Given the description of an element on the screen output the (x, y) to click on. 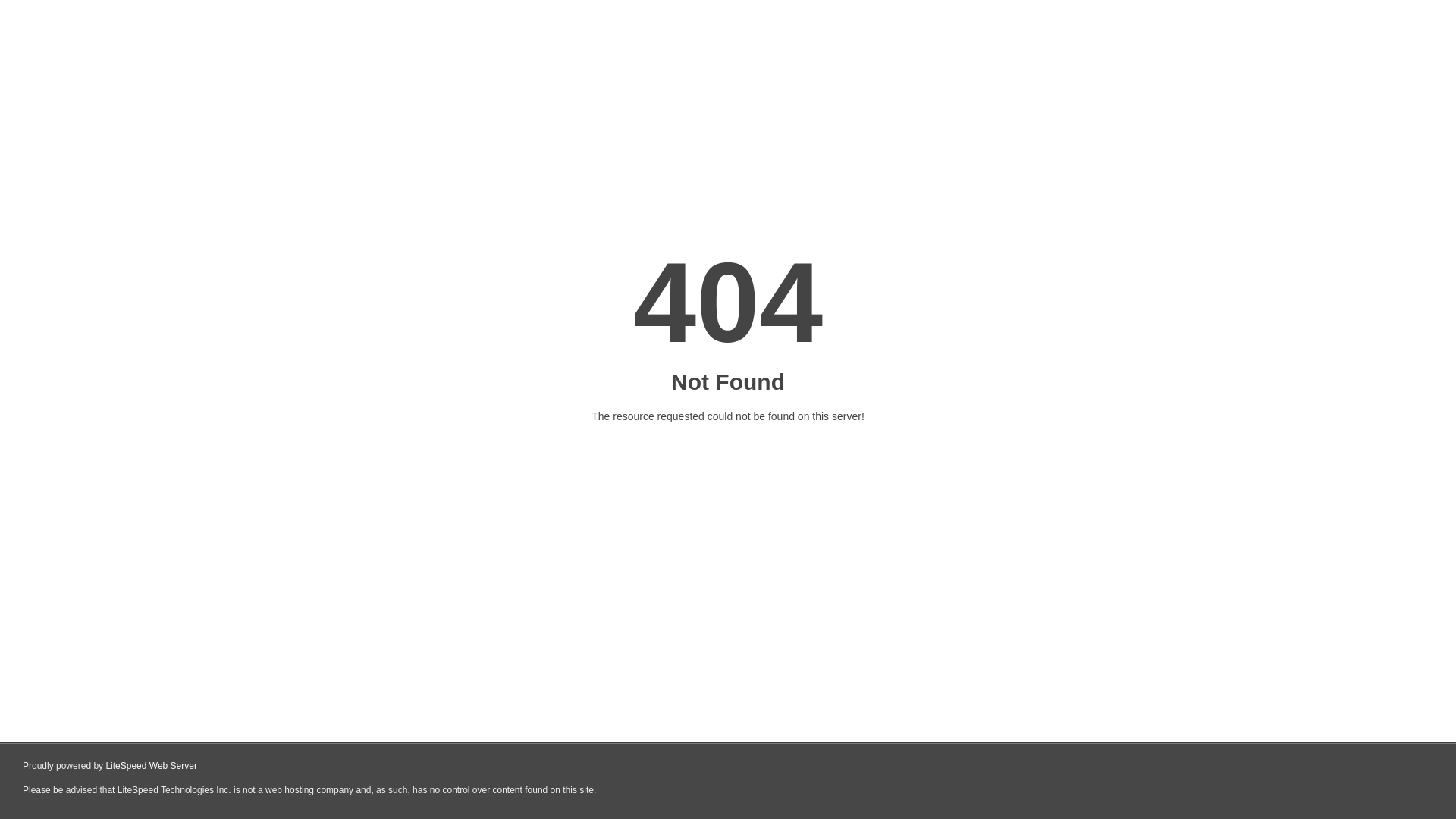
LiteSpeed Web Server Element type: text (151, 765)
